Given the description of an element on the screen output the (x, y) to click on. 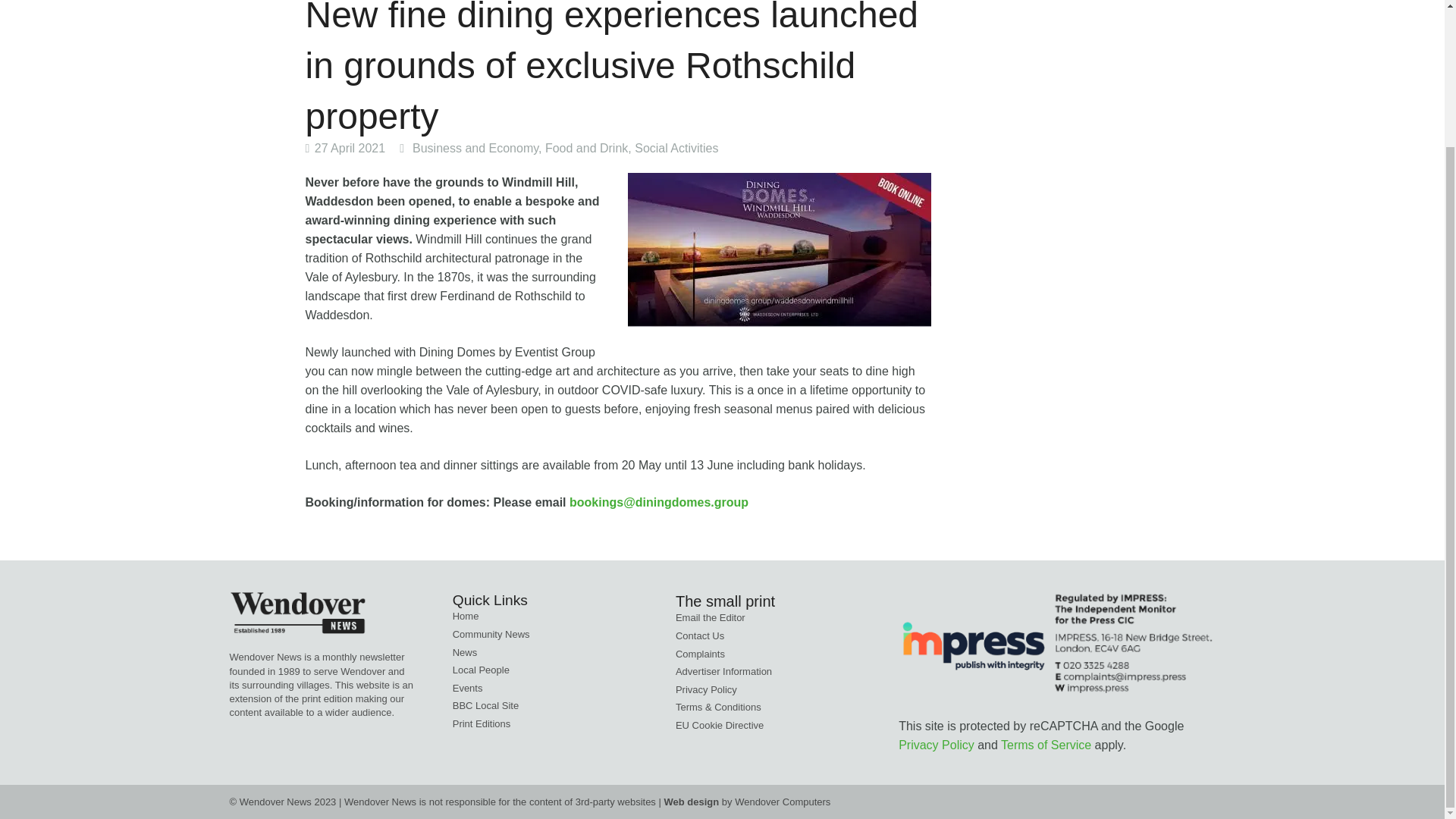
Food and Drink (585, 147)
Business and Economy (475, 147)
Social Activities (675, 147)
